Given the description of an element on the screen output the (x, y) to click on. 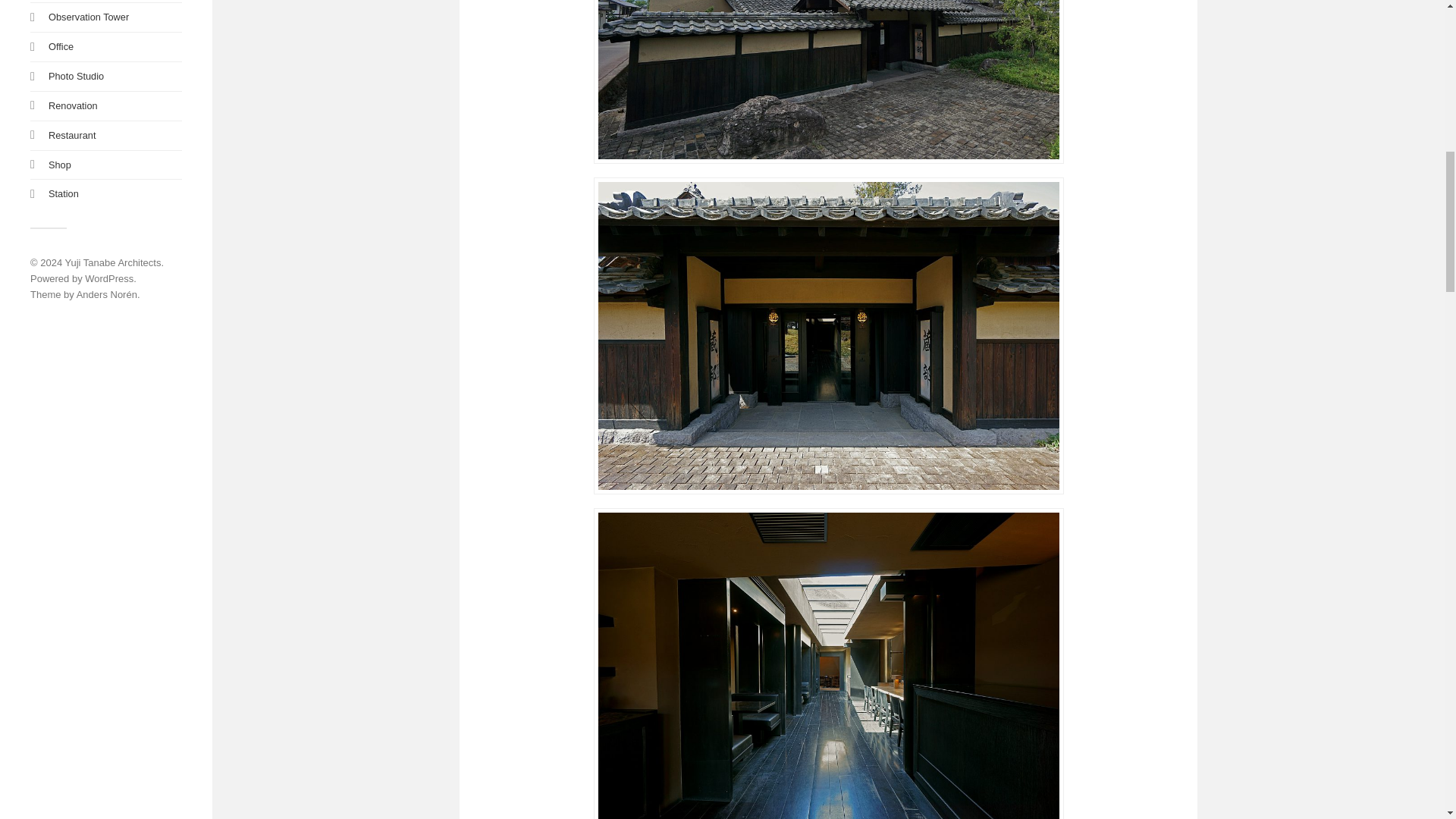
Office (61, 46)
WordPress (108, 278)
Station (63, 193)
Observation Tower (88, 16)
Renovation (72, 105)
Restaurant (72, 134)
Photo Studio (75, 75)
Yuji Tanabe Architects (113, 262)
Shop (59, 164)
